Given the description of an element on the screen output the (x, y) to click on. 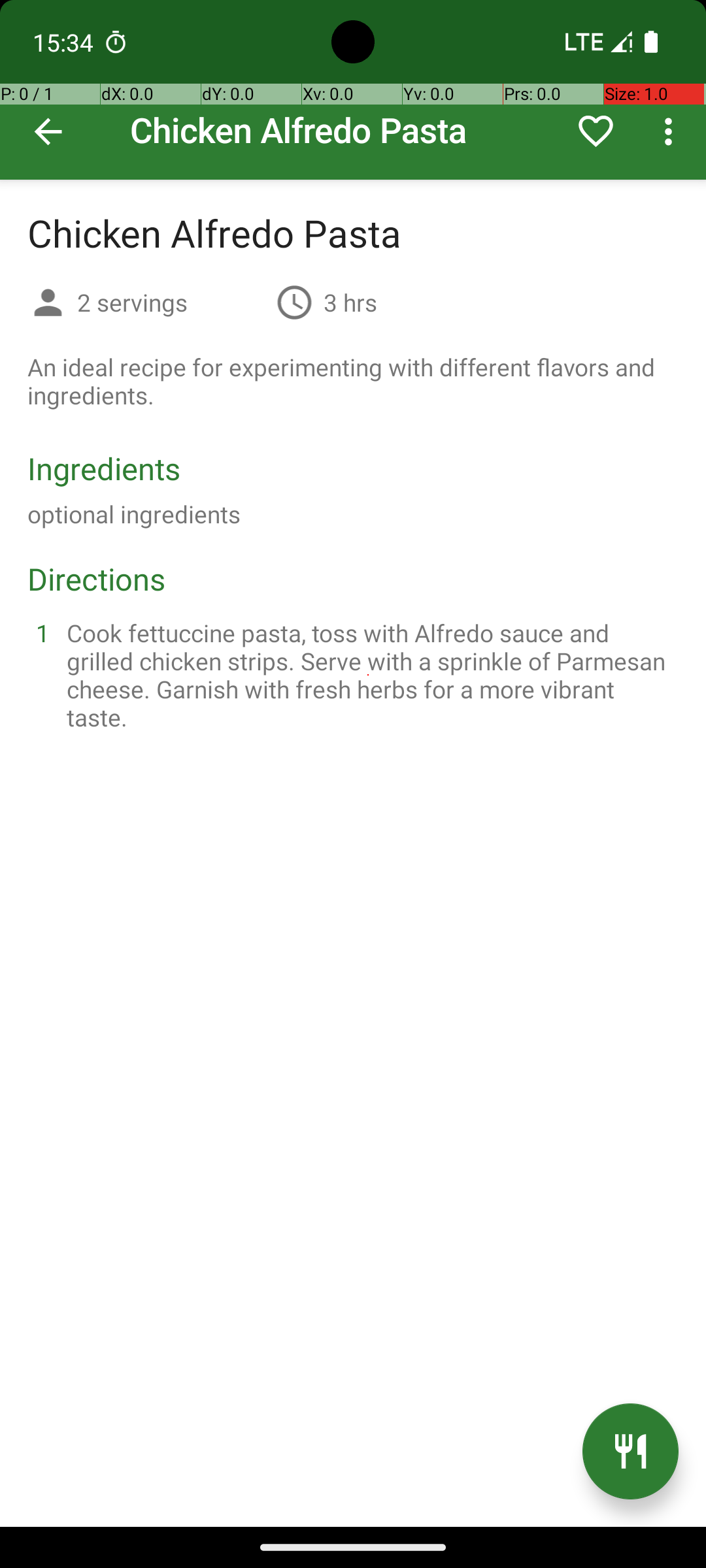
Cook fettuccine pasta, toss with Alfredo sauce and grilled chicken strips. Serve with a sprinkle of Parmesan cheese. Garnish with fresh herbs for a more vibrant taste. Element type: android.widget.TextView (368, 674)
